Given the description of an element on the screen output the (x, y) to click on. 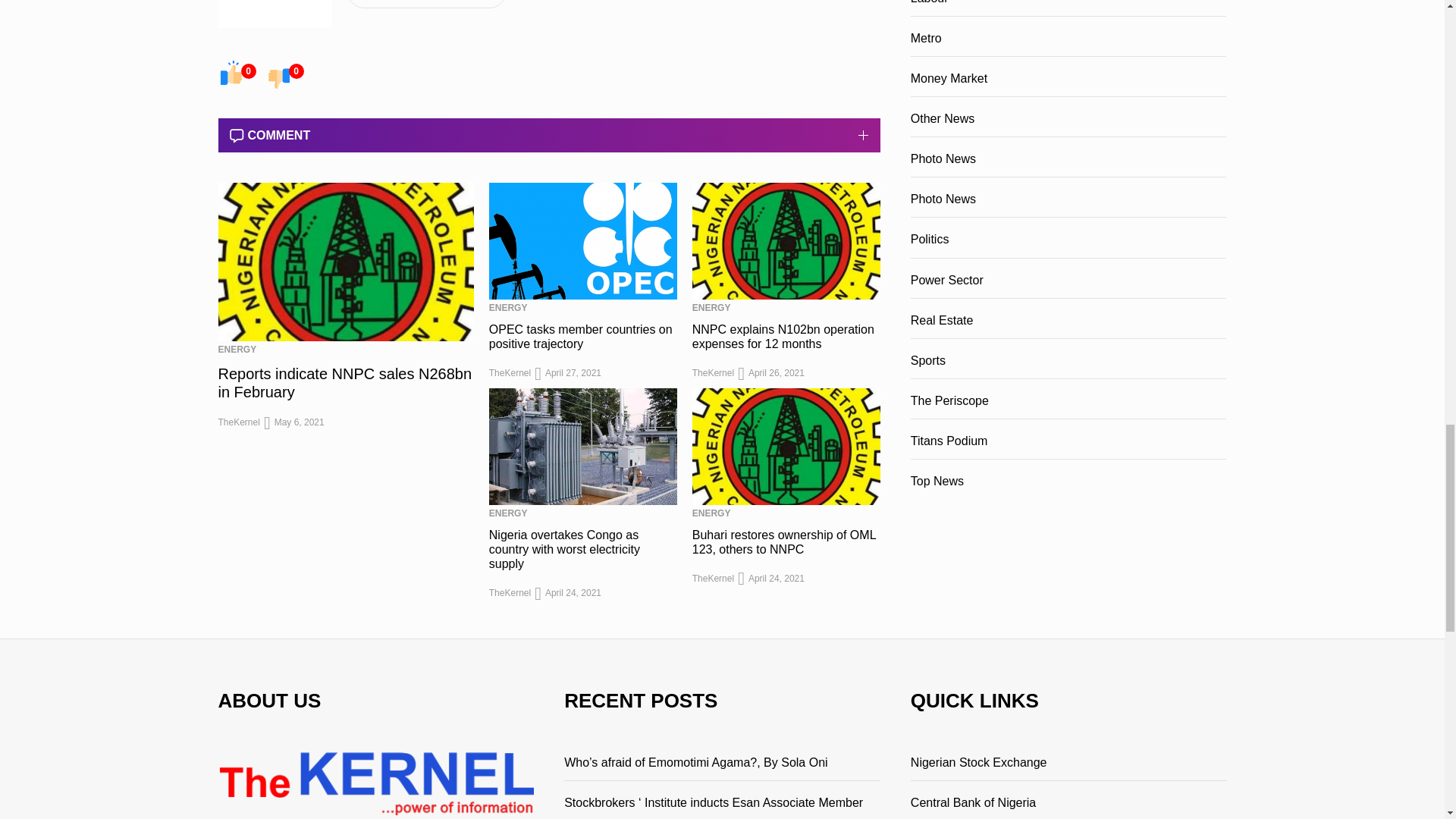
NNPC explains N102bn operation expenses for 12 months (784, 336)
Reports indicate NNPC sales N268bn in February (346, 261)
See author's posts (426, 3)
Reports indicate NNPC sales N268bn in February (344, 382)
May 6, 2021 (299, 421)
Reports indicate NNPC sales N268bn in February (344, 382)
OPEC tasks member countries on positive trajectory (580, 336)
TheKernel (239, 421)
COMMENT (549, 134)
Buhari restores ownership of OML 123, others to NNPC (784, 542)
